Given the description of an element on the screen output the (x, y) to click on. 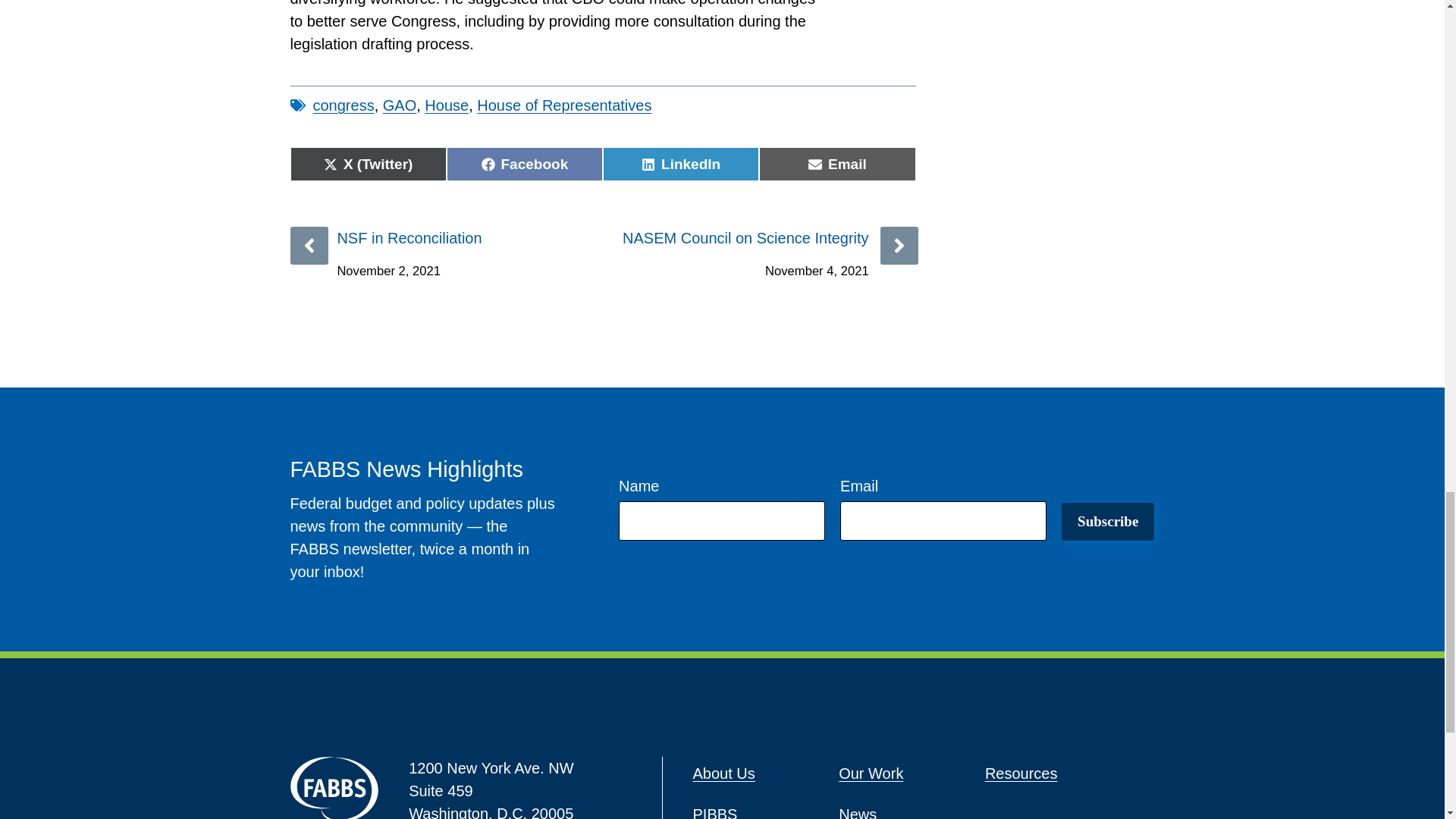
Subscribe (1107, 521)
Go to homepage (333, 787)
